Given the description of an element on the screen output the (x, y) to click on. 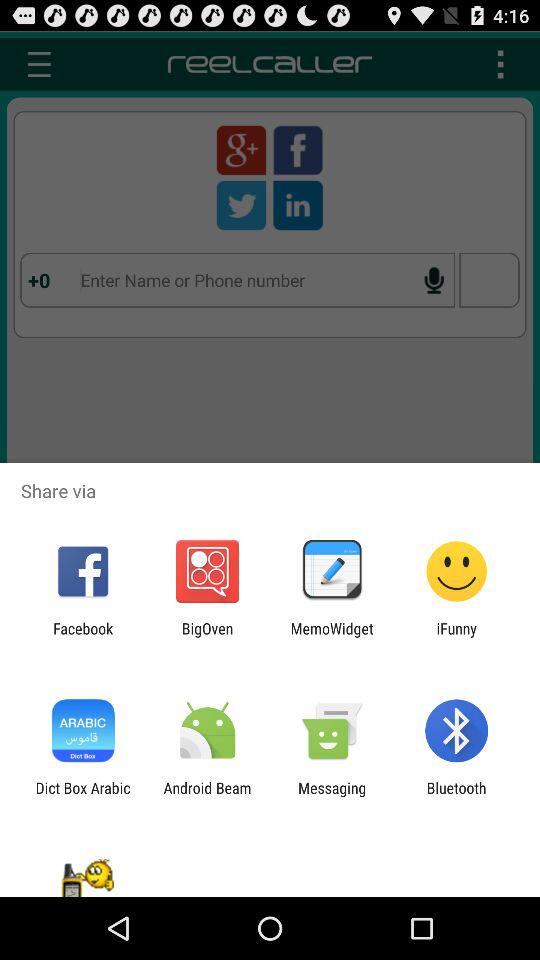
press the app to the left of the bigoven (83, 637)
